Given the description of an element on the screen output the (x, y) to click on. 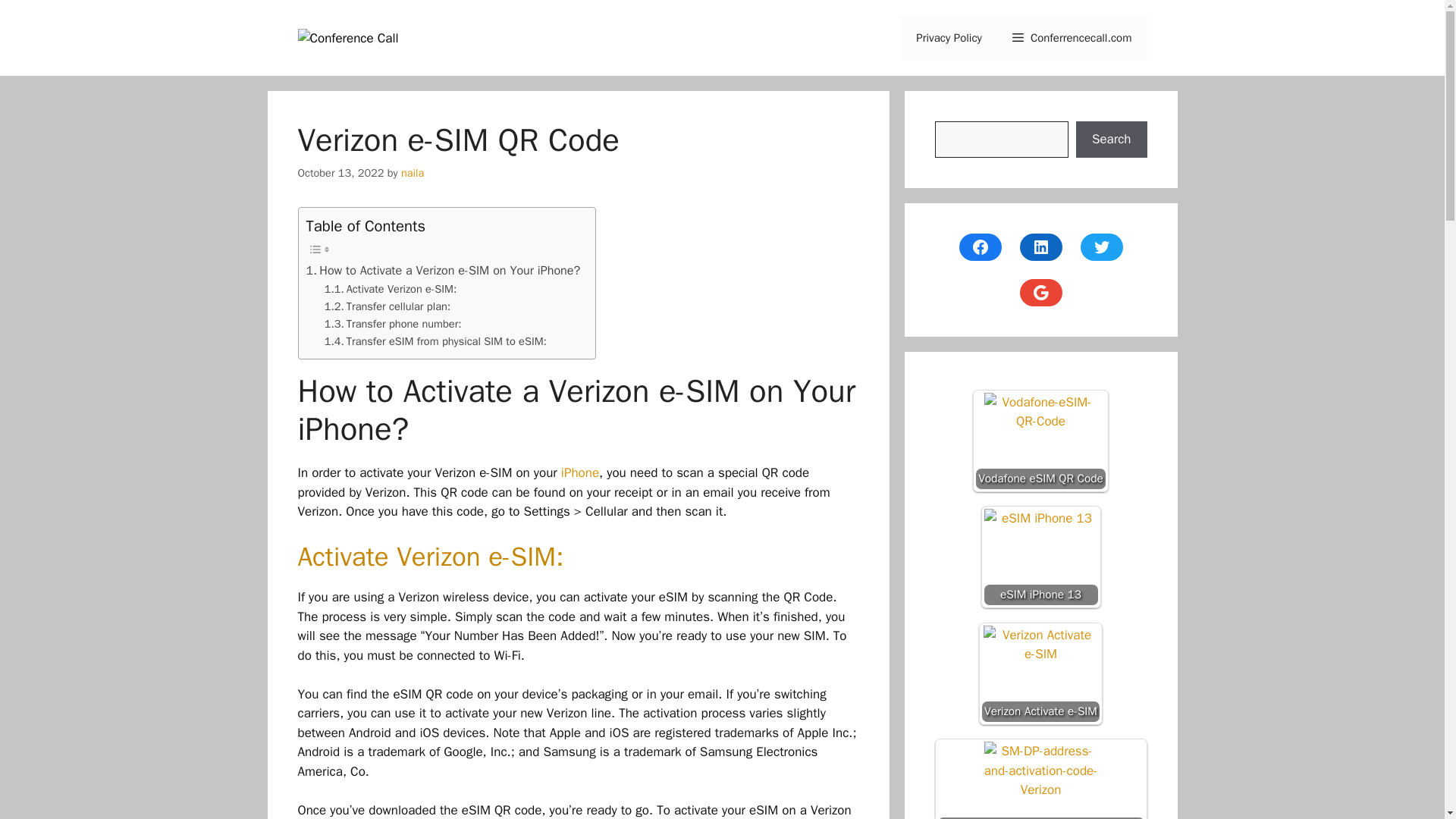
Transfer eSIM from physical SIM to eSIM: (435, 341)
Google (1040, 292)
iPhone (579, 472)
Transfer phone number: (392, 323)
naila (412, 172)
Transfer cellular plan: (386, 306)
How to Activate a Verizon e-SIM on Your iPhone? (442, 270)
Twitter (1101, 247)
Conferrencecall.com (1072, 37)
Privacy Policy (949, 37)
